Given the description of an element on the screen output the (x, y) to click on. 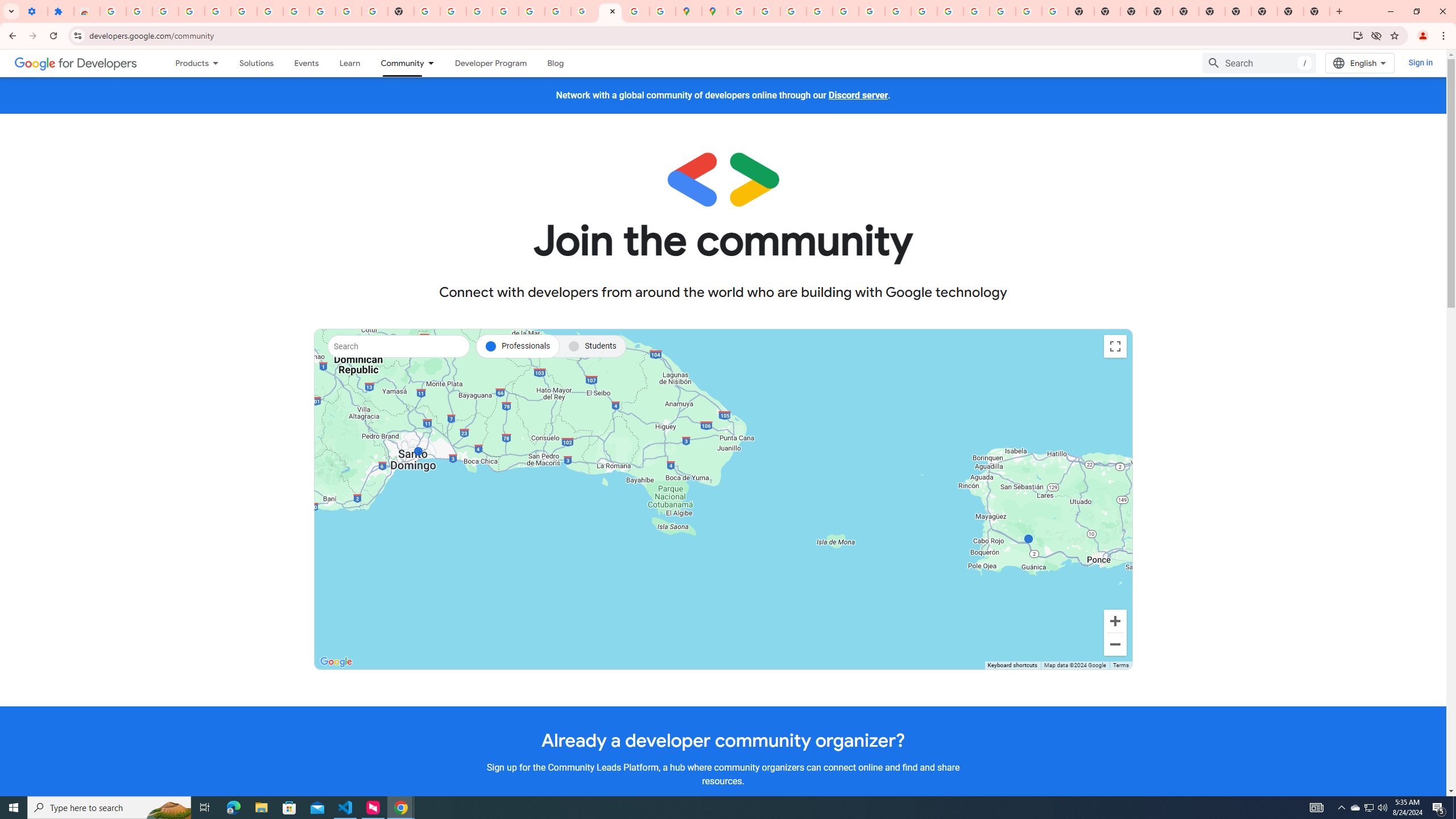
Toggle fullscreen view (1114, 345)
Keyboard shortcuts (1011, 665)
English (1359, 63)
Privacy Help Center - Policies Help (818, 11)
Zoom out (1114, 644)
Zoom in (1114, 620)
Dropdown menu for Community (433, 62)
